Given the description of an element on the screen output the (x, y) to click on. 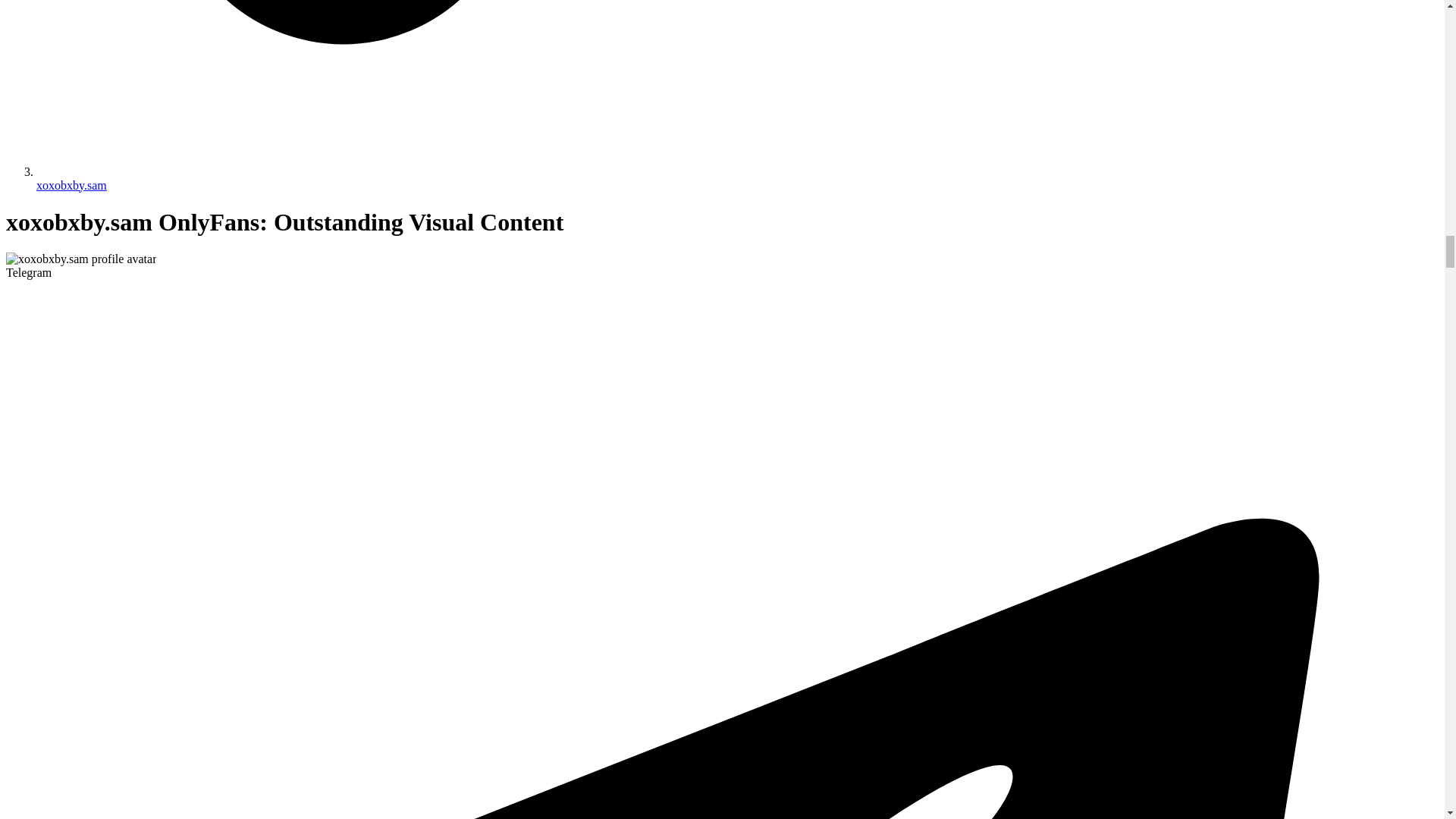
xoxobxby.sam profile avatar (80, 259)
xoxobxby.sam (71, 185)
